Given the description of an element on the screen output the (x, y) to click on. 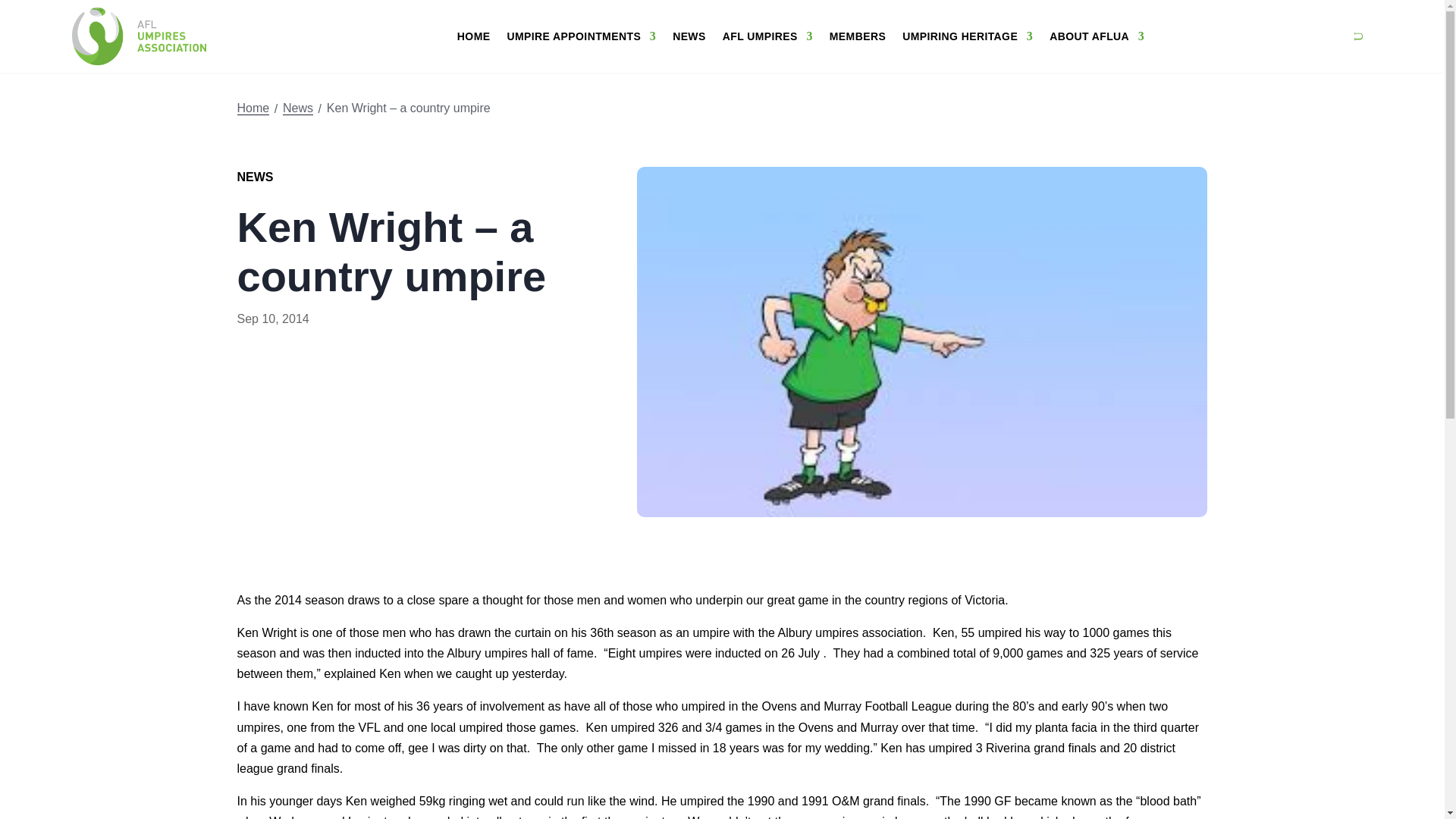
AFL UMPIRES (767, 36)
UMPIRING HERITAGE (967, 36)
ABOUT AFLUA (1096, 36)
UMPIRE APPOINTMENTS (581, 36)
